Given the description of an element on the screen output the (x, y) to click on. 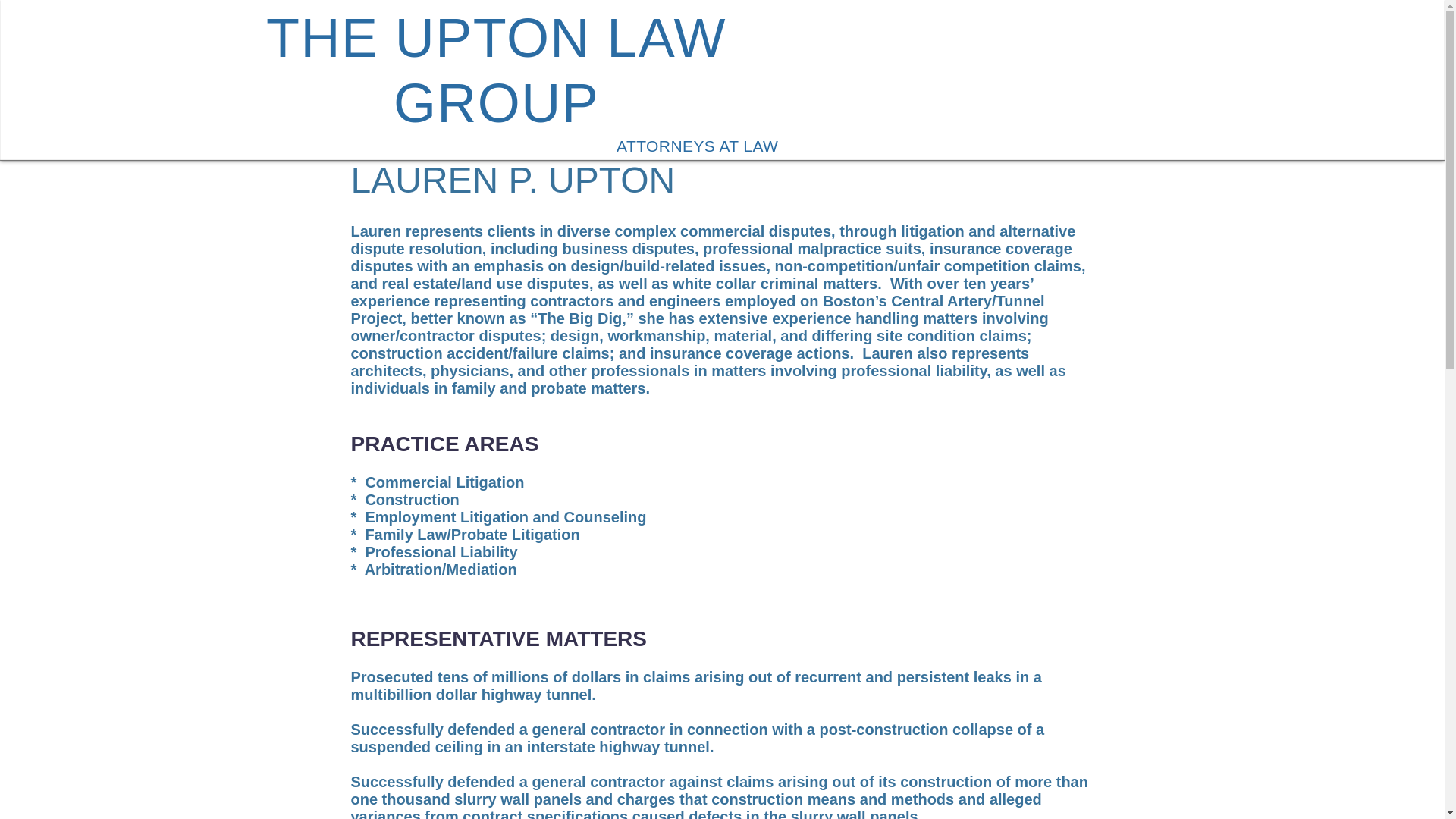
CONTACT (828, 115)
OUR ATTORNEYS (727, 115)
OUR PRACTICES (604, 115)
COMMUNITY WORK (935, 115)
HOME (433, 115)
OUR FIRM (503, 115)
